Given the description of an element on the screen output the (x, y) to click on. 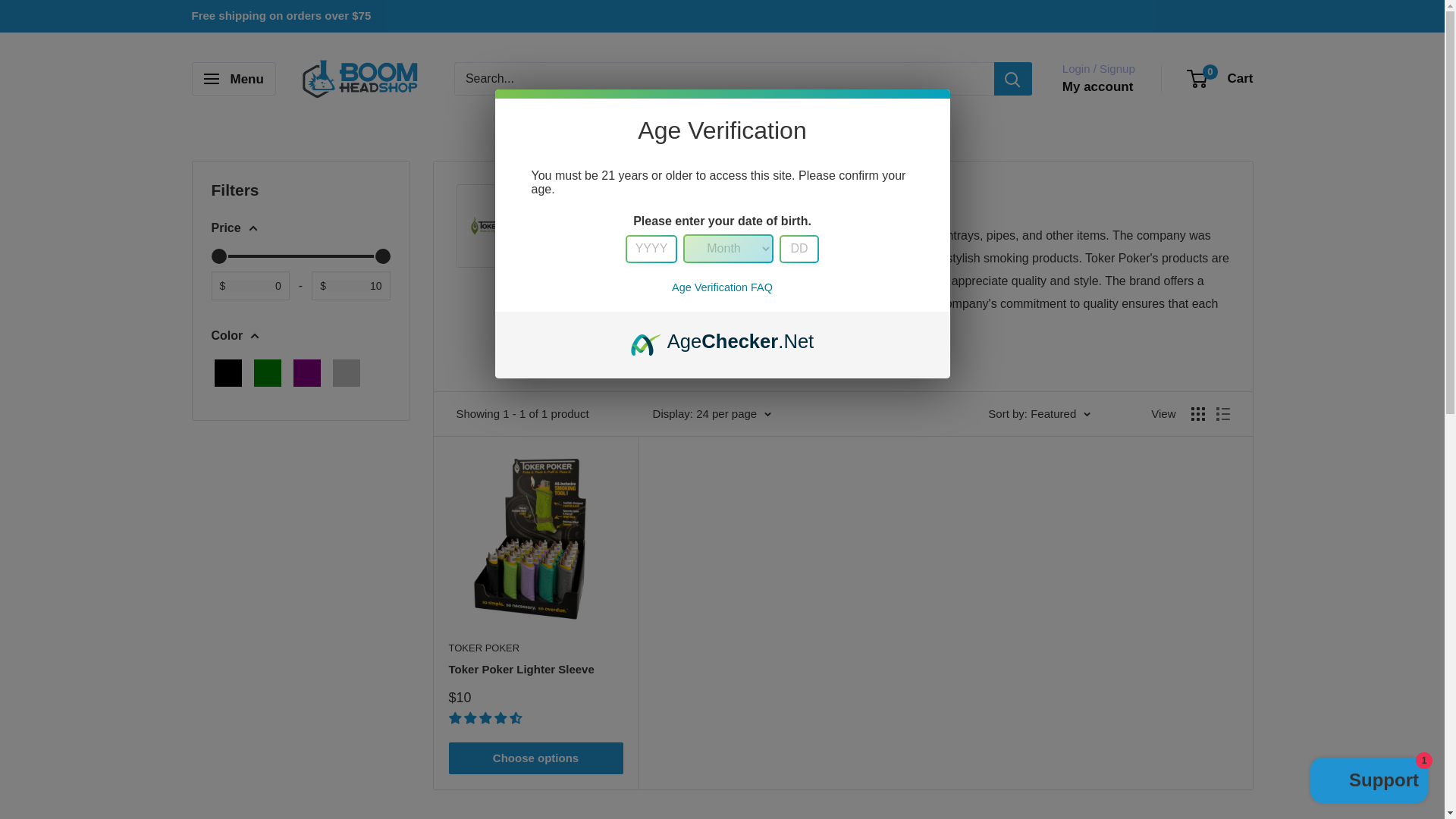
Shopify online store chat (1369, 781)
10 (300, 255)
0 (300, 255)
